Given the description of an element on the screen output the (x, y) to click on. 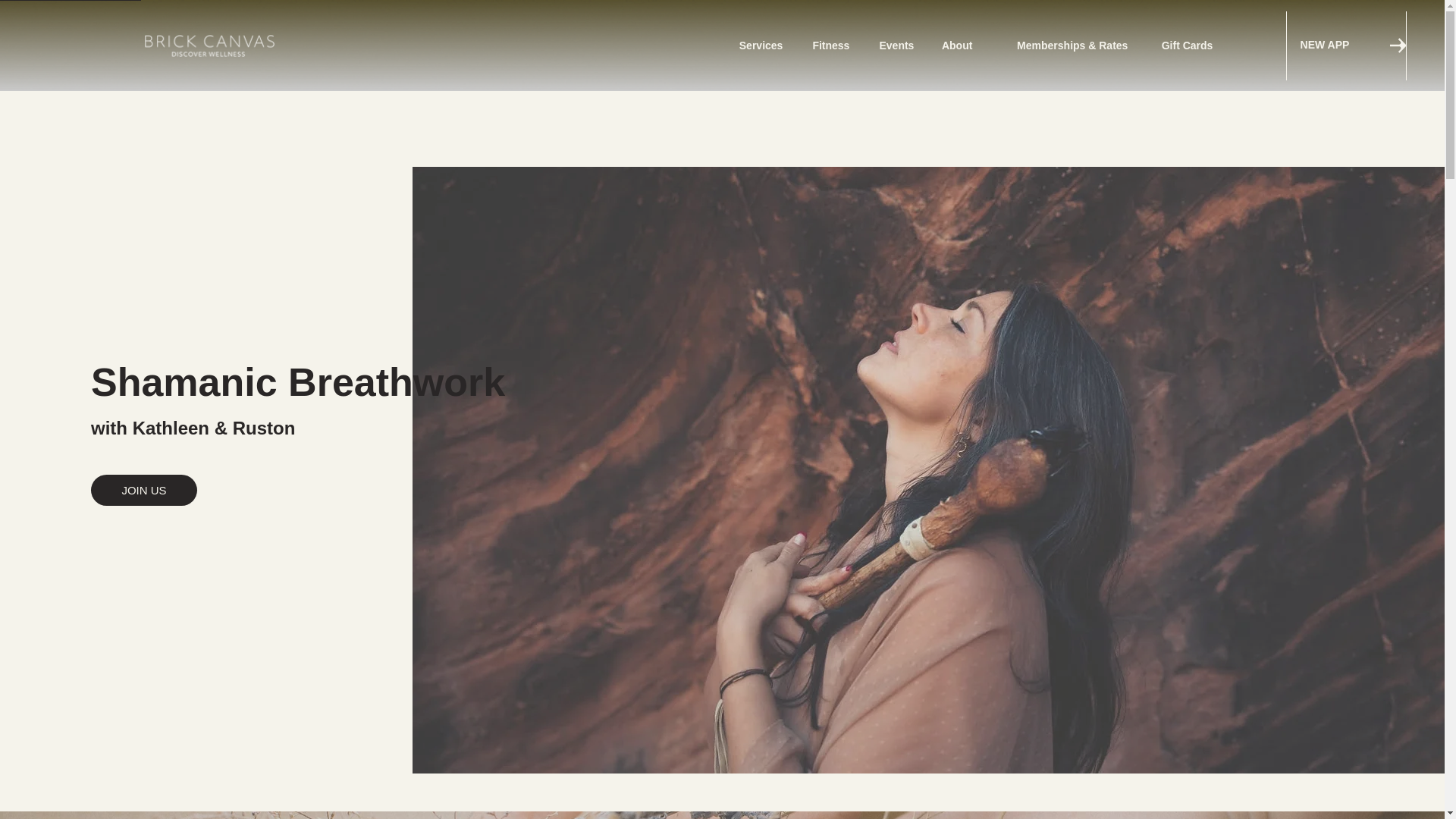
About (954, 45)
Gift Cards (1181, 45)
Events (892, 45)
NEW APP (1343, 46)
JOIN US (143, 490)
Fitness (826, 45)
